Given the description of an element on the screen output the (x, y) to click on. 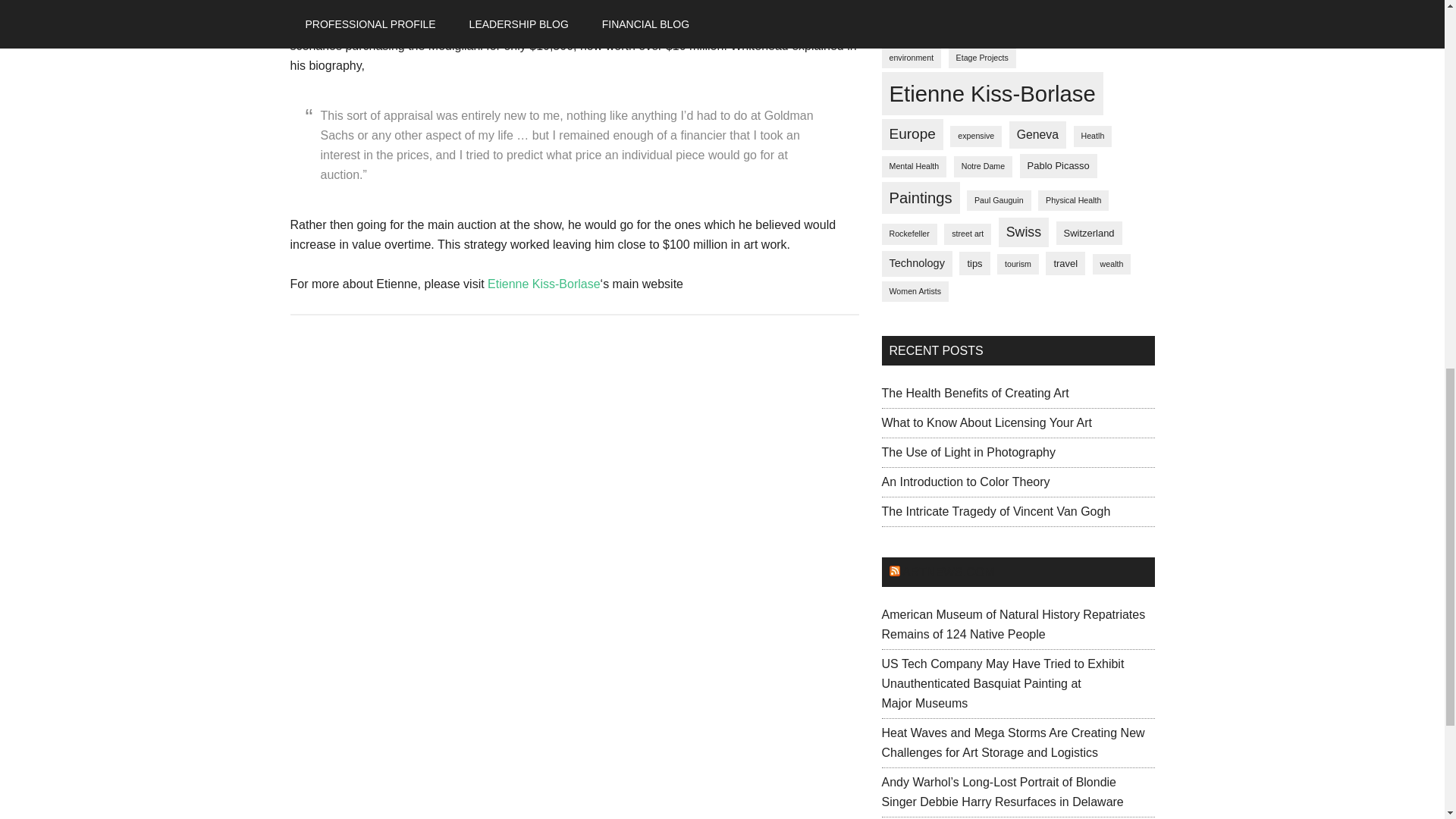
Art News (970, 7)
art museum (909, 7)
budget (900, 31)
auctioneer (1027, 7)
Etienne Kiss-Borlase (543, 283)
Benefits (1083, 7)
Celebrities (954, 31)
